Given the description of an element on the screen output the (x, y) to click on. 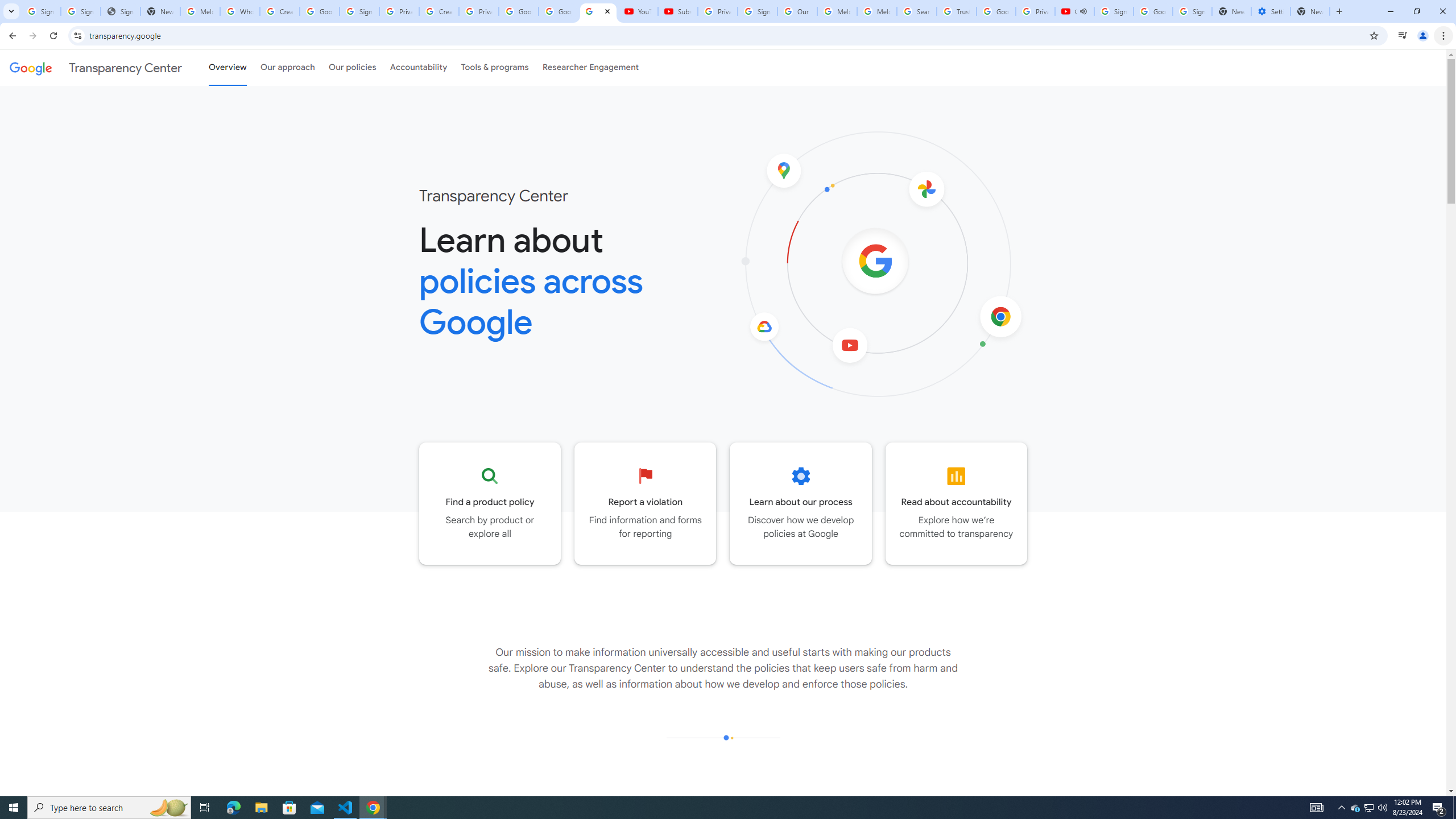
Sign in - Google Accounts (359, 11)
New Tab (1310, 11)
Sign in - Google Accounts (1113, 11)
Google Ads - Sign in (995, 11)
Google Account (557, 11)
Sign in - Google Accounts (80, 11)
Transparency Center (95, 67)
Sign in - Google Accounts (757, 11)
